Given the description of an element on the screen output the (x, y) to click on. 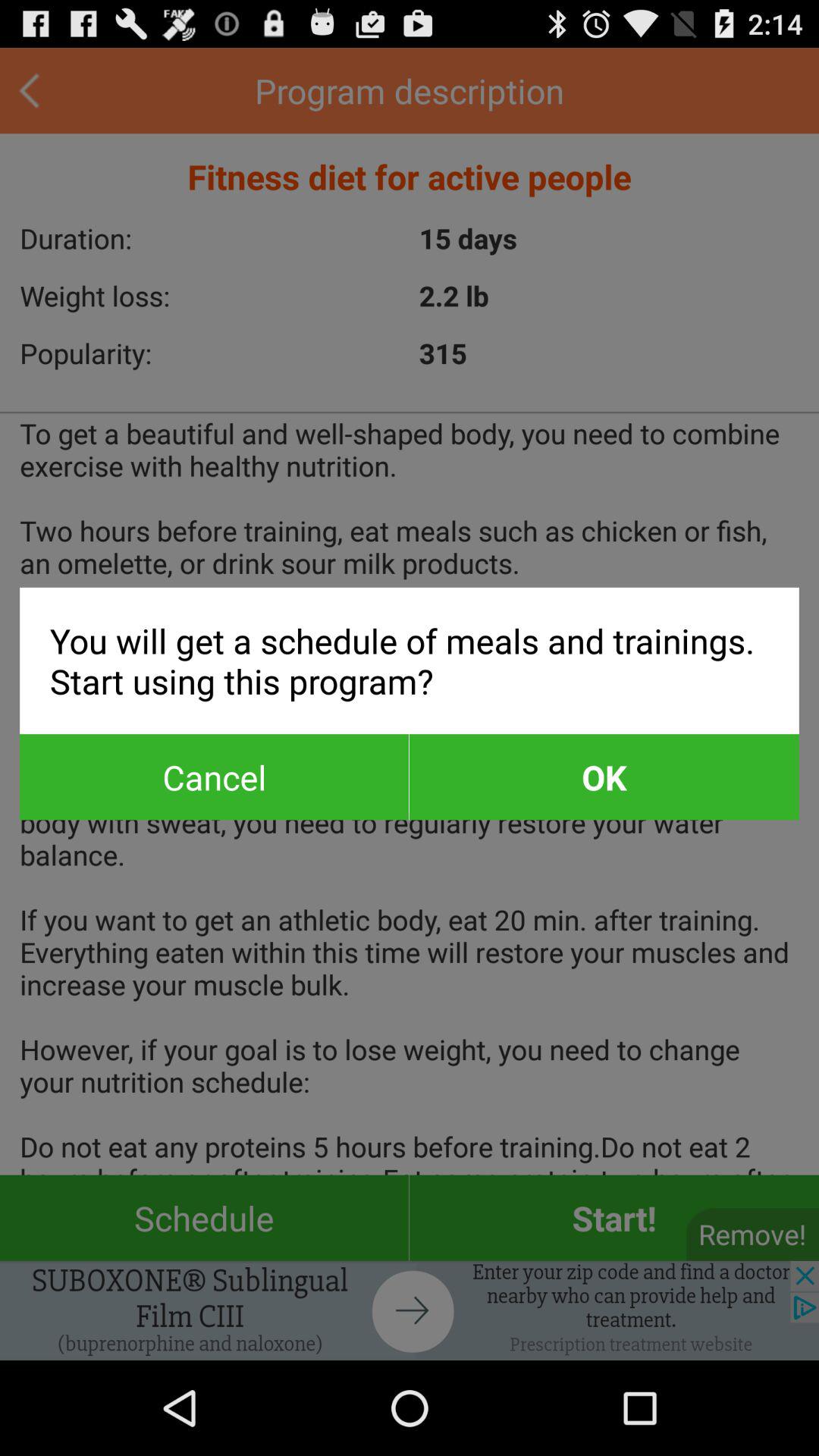
choose the button next to ok (213, 777)
